Given the description of an element on the screen output the (x, y) to click on. 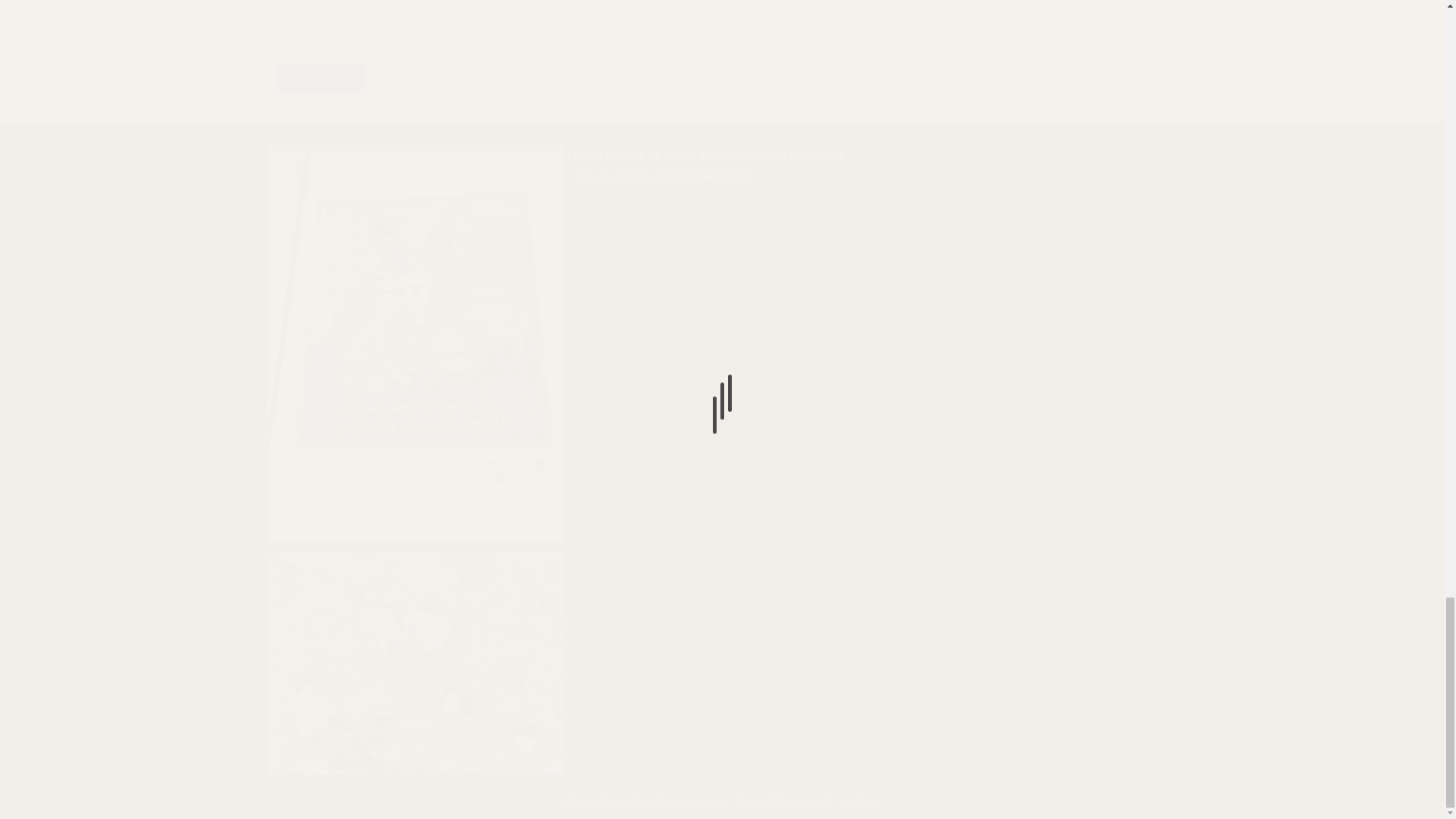
Post Comment (320, 78)
Post Comment (320, 78)
EnterNews (770, 800)
